Given the description of an element on the screen output the (x, y) to click on. 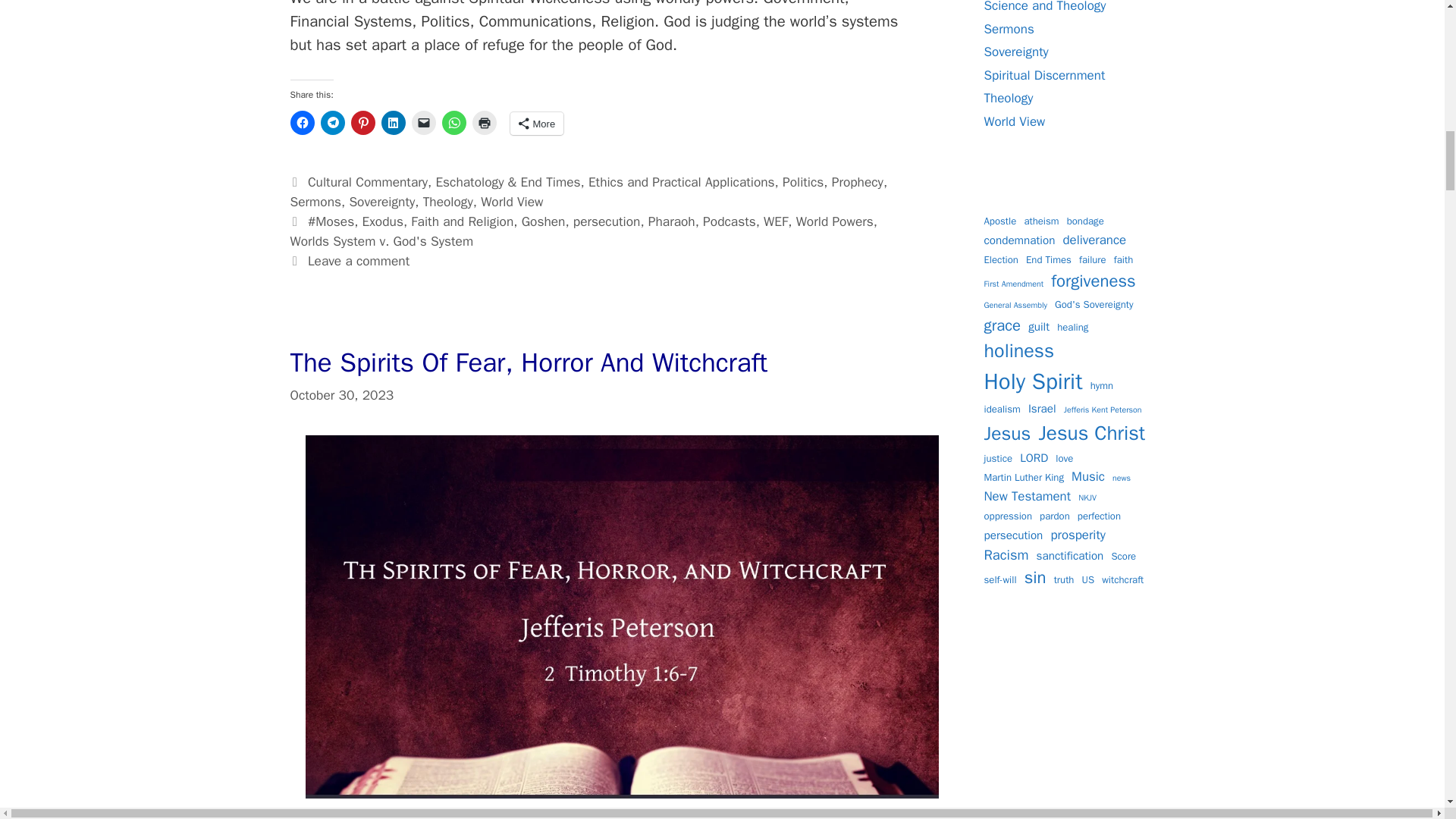
Click to share on Telegram (331, 122)
Click to share on Facebook (301, 122)
